Given the description of an element on the screen output the (x, y) to click on. 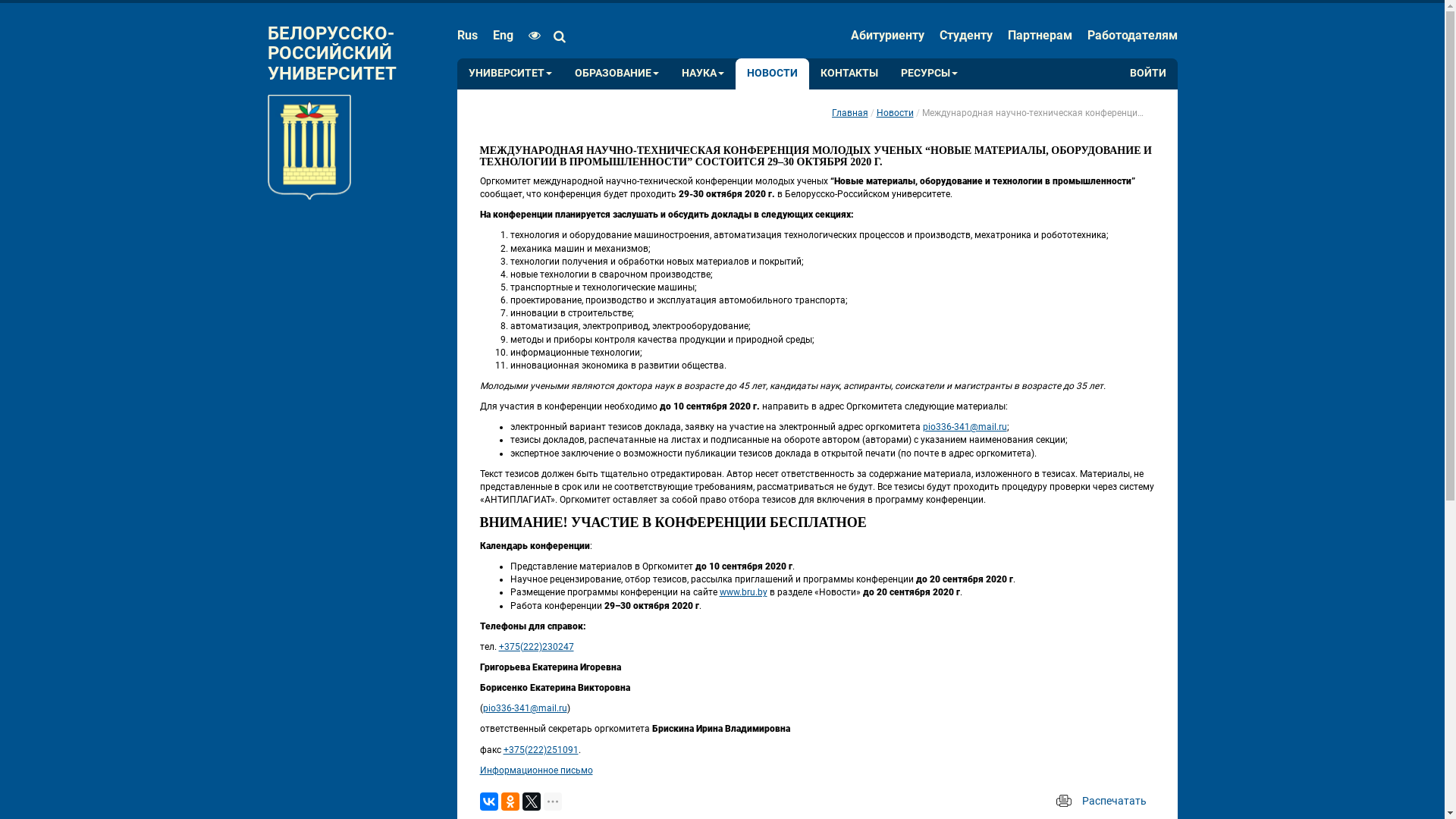
Twitter Element type: hover (530, 801)
Rus Element type: text (470, 35)
www.bru.by Element type: text (742, 591)
pio336-341@mail.ru Element type: text (964, 426)
Eng Element type: text (502, 35)
pio336-341@mail.ru Element type: text (524, 707)
+375(222)251091 Element type: text (540, 749)
+375(222)230247 Element type: text (536, 646)
